Given the description of an element on the screen output the (x, y) to click on. 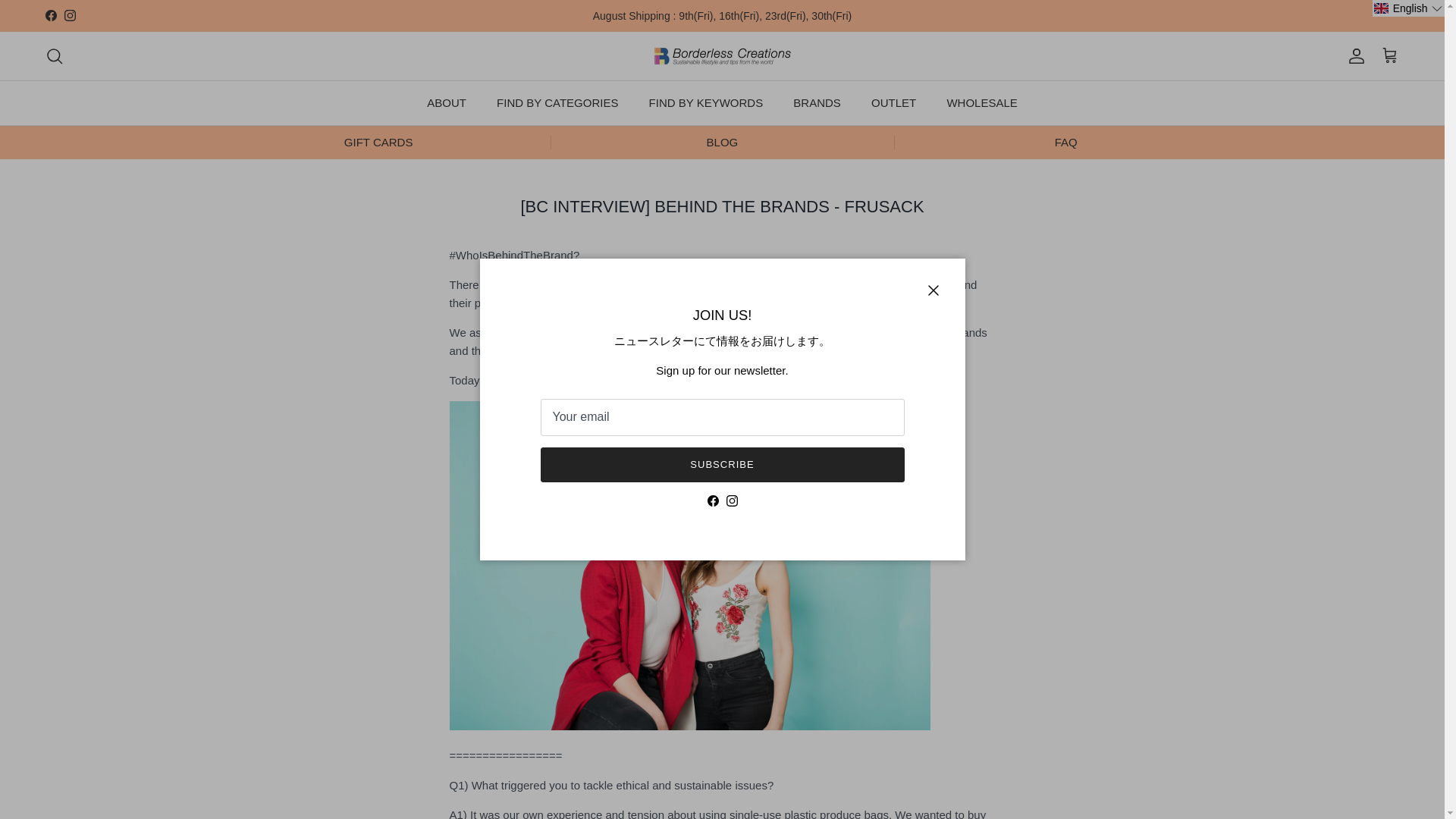
ABOUT (446, 103)
Account (1352, 55)
FIND BY CATEGORIES (557, 103)
Borderless Creations on Facebook (711, 500)
Borderless Creations on Facebook (50, 15)
Search (54, 55)
FIND BY KEYWORDS (705, 103)
Instagram (69, 15)
Cart (1389, 55)
Borderless Creations on Instagram (69, 15)
OUTLET (893, 103)
Borderless Creations (721, 55)
Facebook (50, 15)
Borderless Creations on Instagram (732, 500)
BRANDS (816, 103)
